Given the description of an element on the screen output the (x, y) to click on. 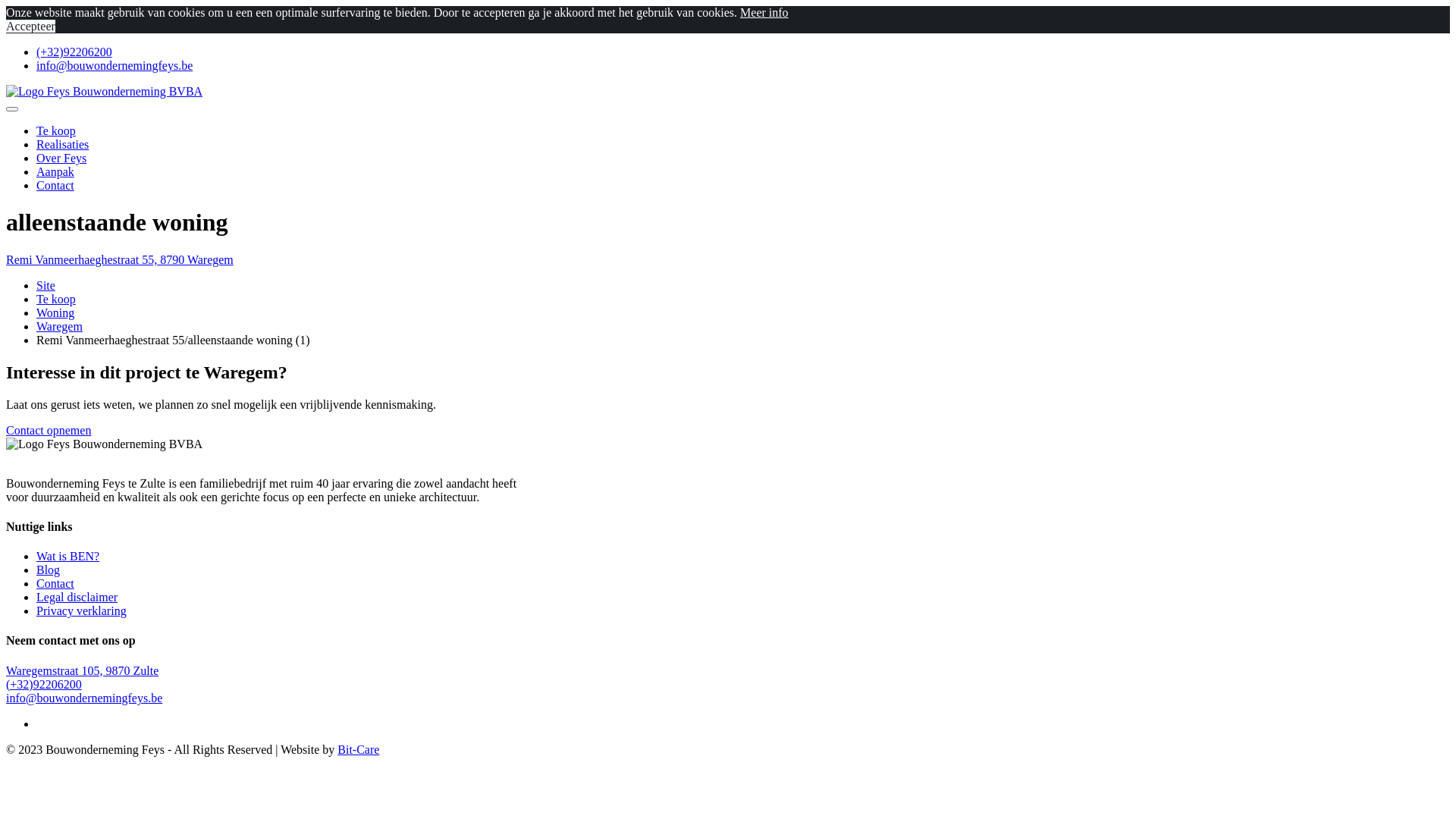
Meer info Element type: text (764, 12)
Woning Element type: text (55, 312)
Bit-Care Element type: text (358, 749)
(+32)92206200 Element type: text (74, 51)
Wat is BEN? Element type: text (67, 555)
Contact Element type: text (55, 184)
Contact Element type: text (55, 583)
Contact opnemen Element type: text (48, 429)
Over Feys Element type: text (61, 157)
Waregemstraat 105, 9870 Zulte Element type: text (82, 670)
(+32)92206200 Element type: text (43, 683)
info@bouwondernemingfeys.be Element type: text (114, 65)
info@bouwondernemingfeys.be Element type: text (84, 697)
Privacy verklaring Element type: text (81, 610)
Te koop Element type: text (55, 130)
Realisaties Element type: text (62, 144)
Aanpak Element type: text (55, 171)
Blog Element type: text (47, 569)
Accepteer Element type: text (30, 25)
Remi Vanmeerhaeghestraat 55, 8790 Waregem Element type: text (119, 259)
Legal disclaimer Element type: text (76, 596)
Te koop Element type: text (55, 298)
Site Element type: text (45, 285)
Waregem Element type: text (59, 326)
